Given the description of an element on the screen output the (x, y) to click on. 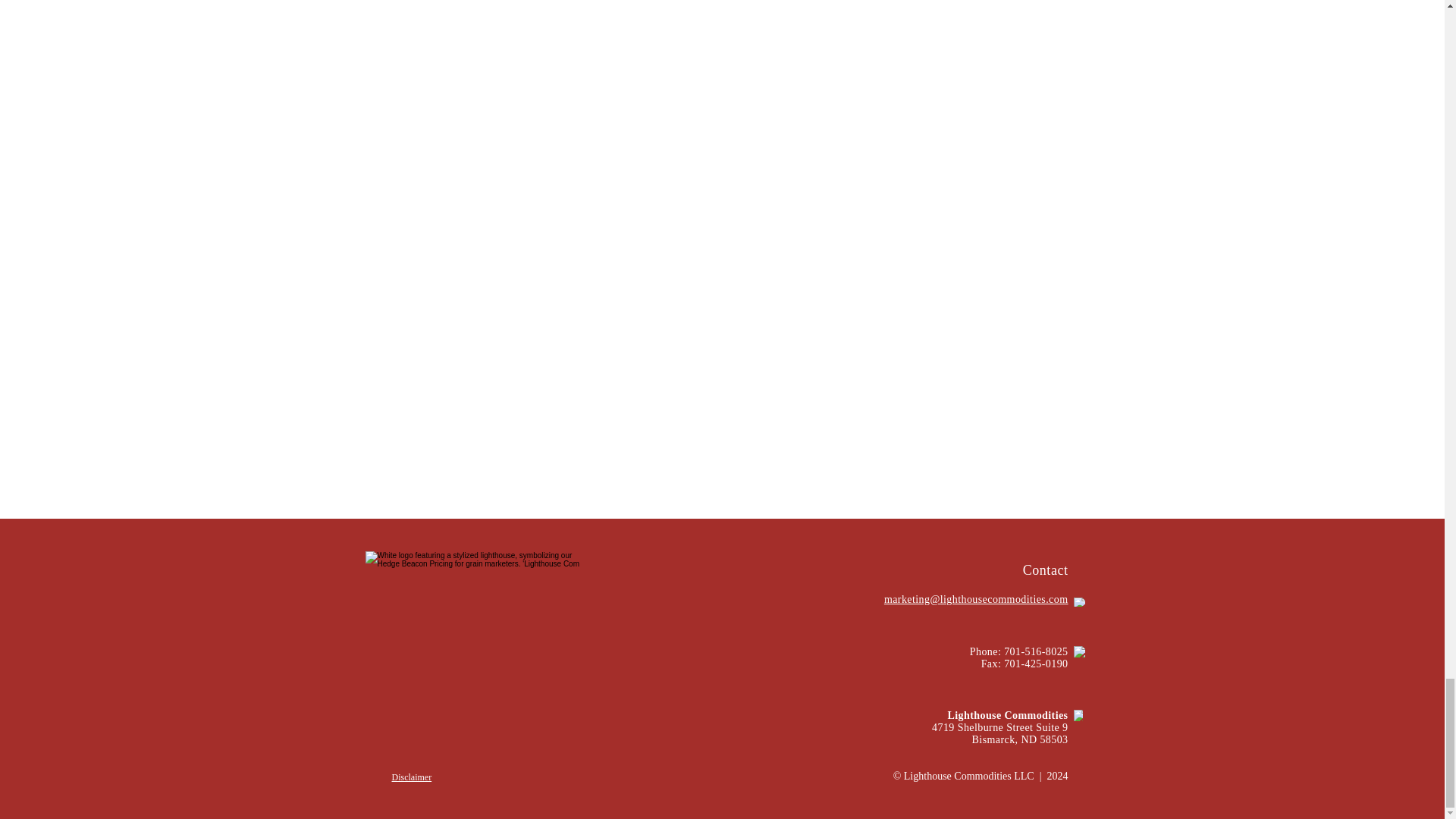
Disclaimer (410, 777)
